Given the description of an element on the screen output the (x, y) to click on. 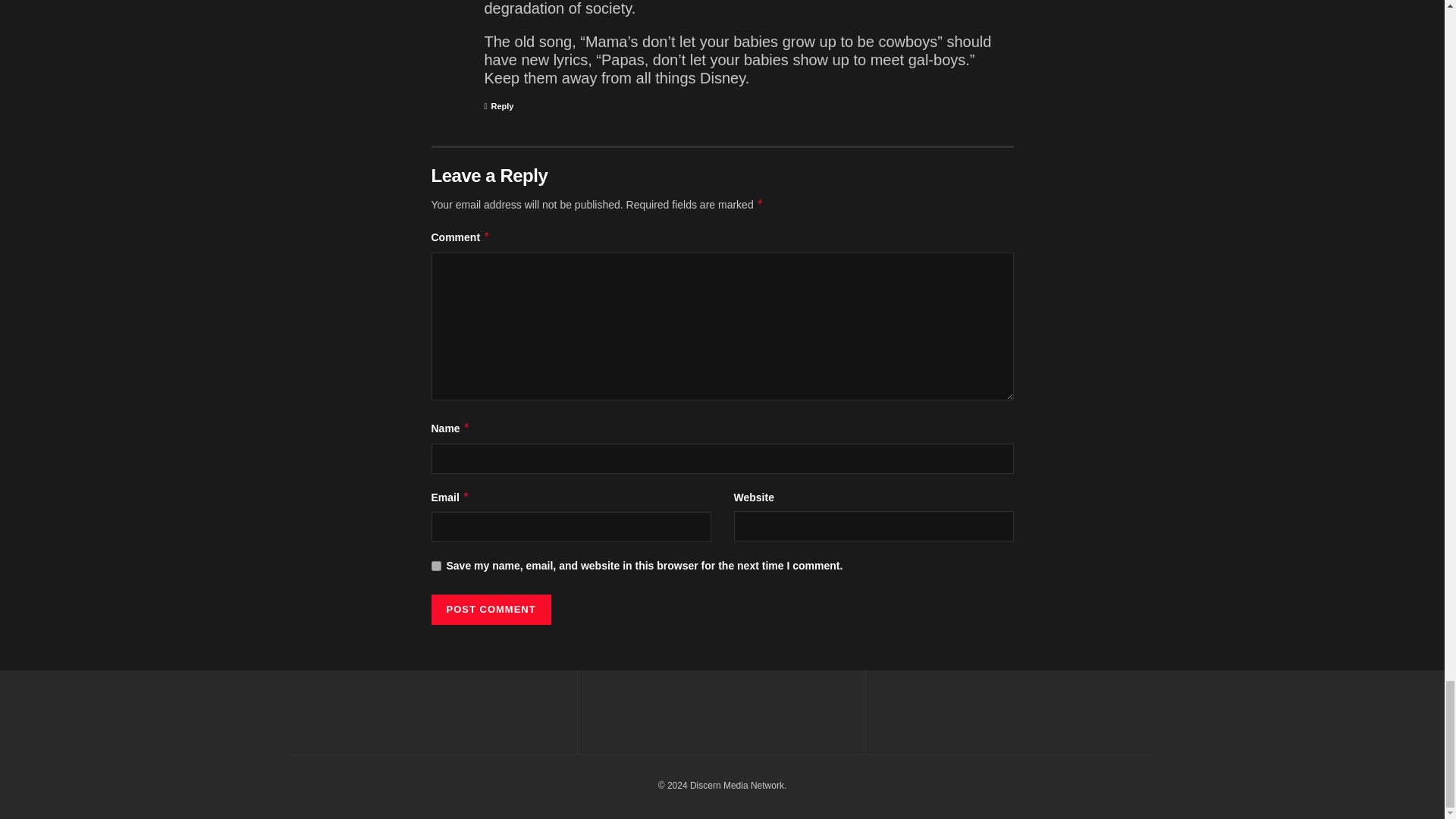
yes (435, 565)
Post Comment (490, 609)
